Given the description of an element on the screen output the (x, y) to click on. 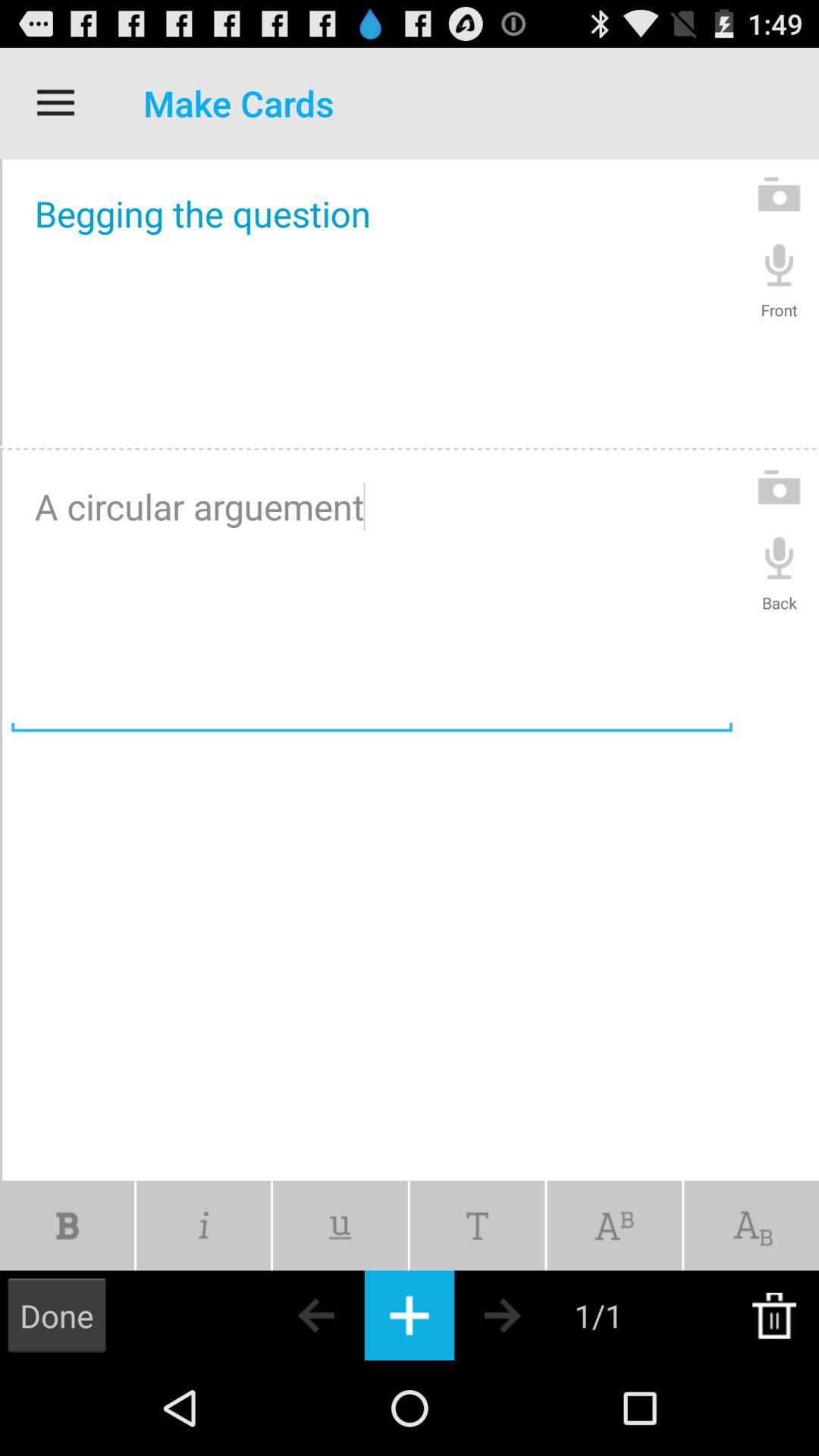
toggle subscript (751, 1225)
